Given the description of an element on the screen output the (x, y) to click on. 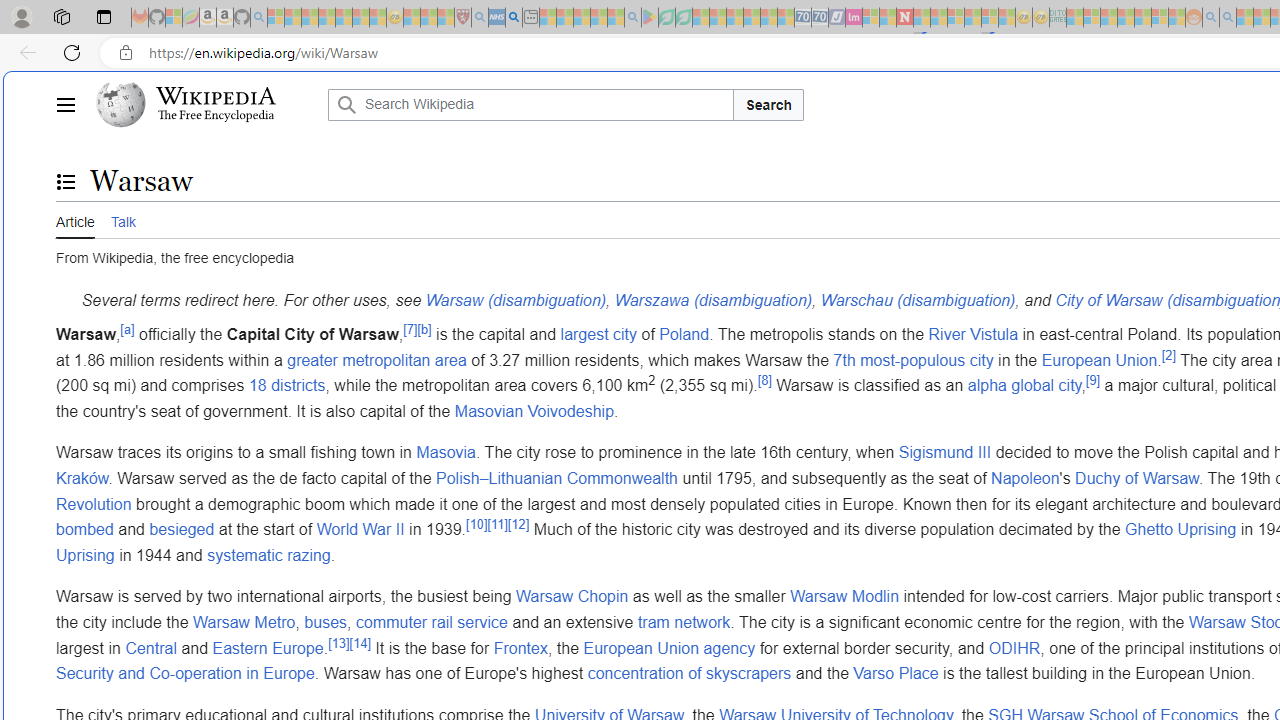
[b] (424, 328)
Warsaw Chopin (571, 597)
Article (75, 219)
Central (150, 647)
[11] (497, 524)
Sigismund III (945, 453)
bombed (84, 530)
